Given the description of an element on the screen output the (x, y) to click on. 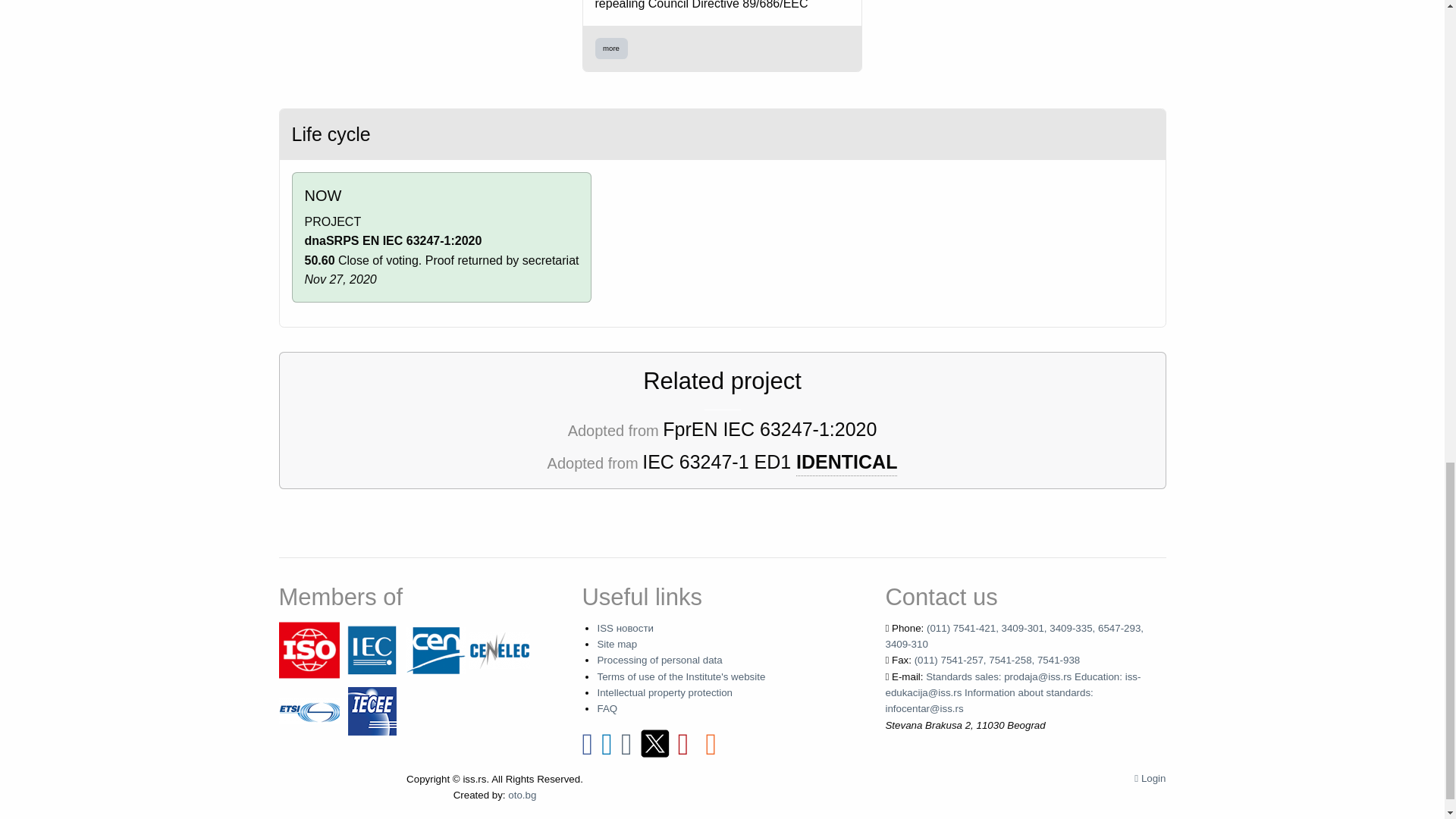
ISO (309, 649)
ETSI (309, 709)
CENELEC (498, 649)
CEN (435, 649)
IECEE (372, 709)
IEC (372, 649)
